Given the description of an element on the screen output the (x, y) to click on. 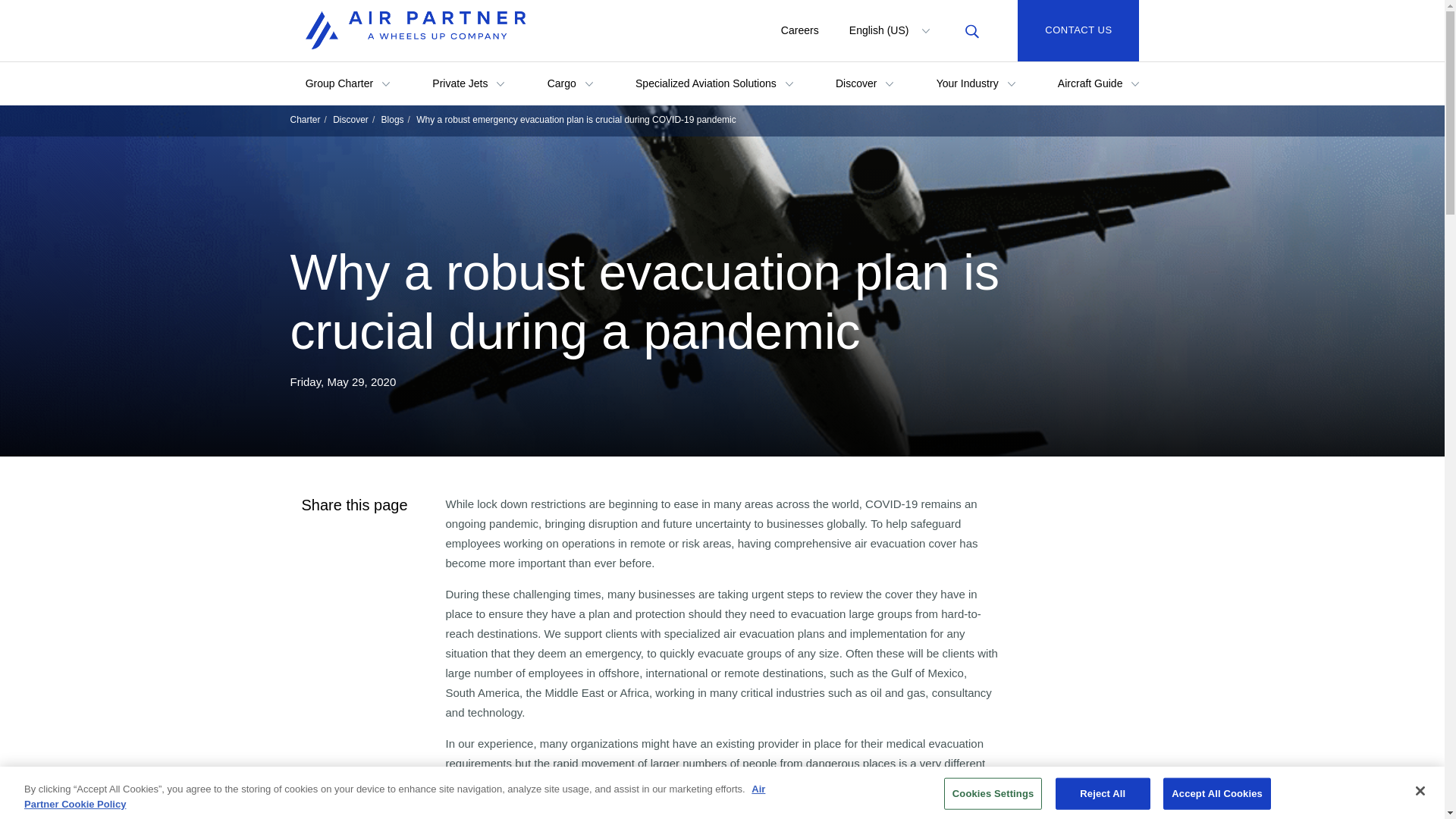
Cargo (570, 83)
Private Jets (467, 83)
Careers (799, 30)
Discover (864, 83)
CONTACT US (1077, 30)
Group Charter (346, 83)
Specialized Aviation Solutions (714, 83)
Search (971, 29)
